Given the description of an element on the screen output the (x, y) to click on. 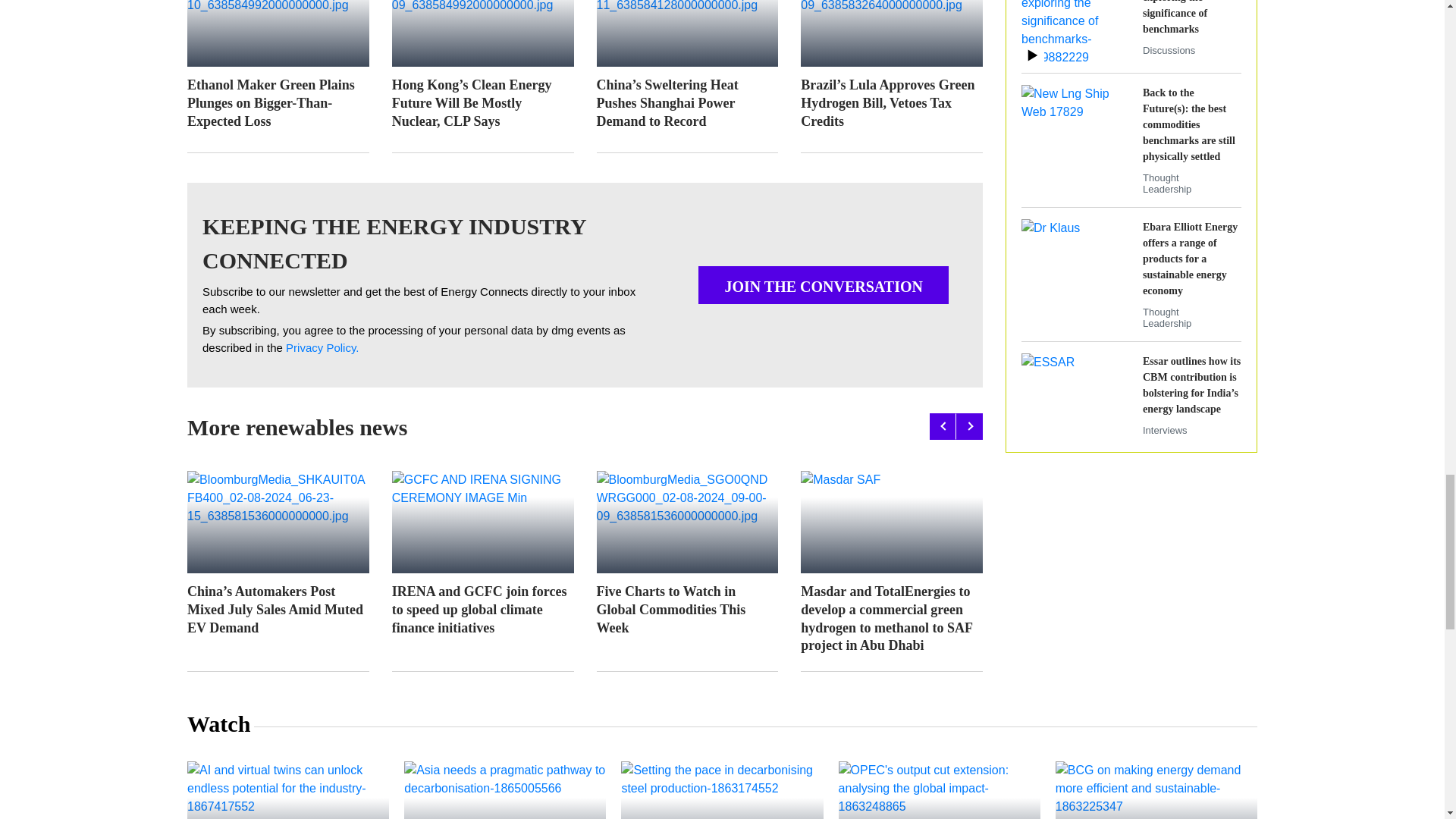
Subscribe (321, 348)
